Given the description of an element on the screen output the (x, y) to click on. 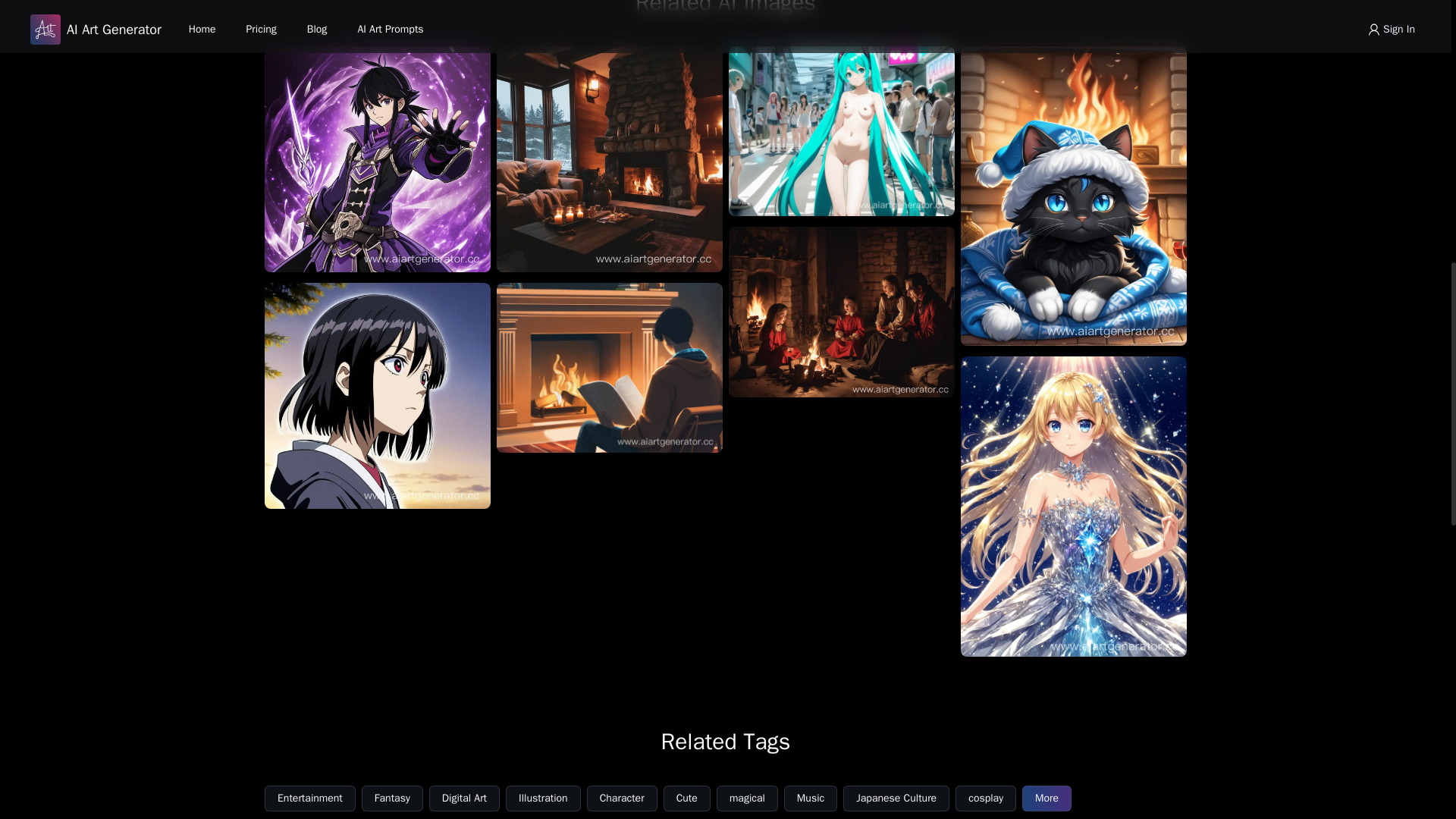
Illustration (542, 798)
More (1046, 798)
cosplay (985, 798)
Cute (686, 798)
Japanese Culture (896, 798)
Character (622, 798)
magical (746, 798)
Entertainment (309, 798)
Digital Art (464, 798)
Fantasy (392, 798)
